Given the description of an element on the screen output the (x, y) to click on. 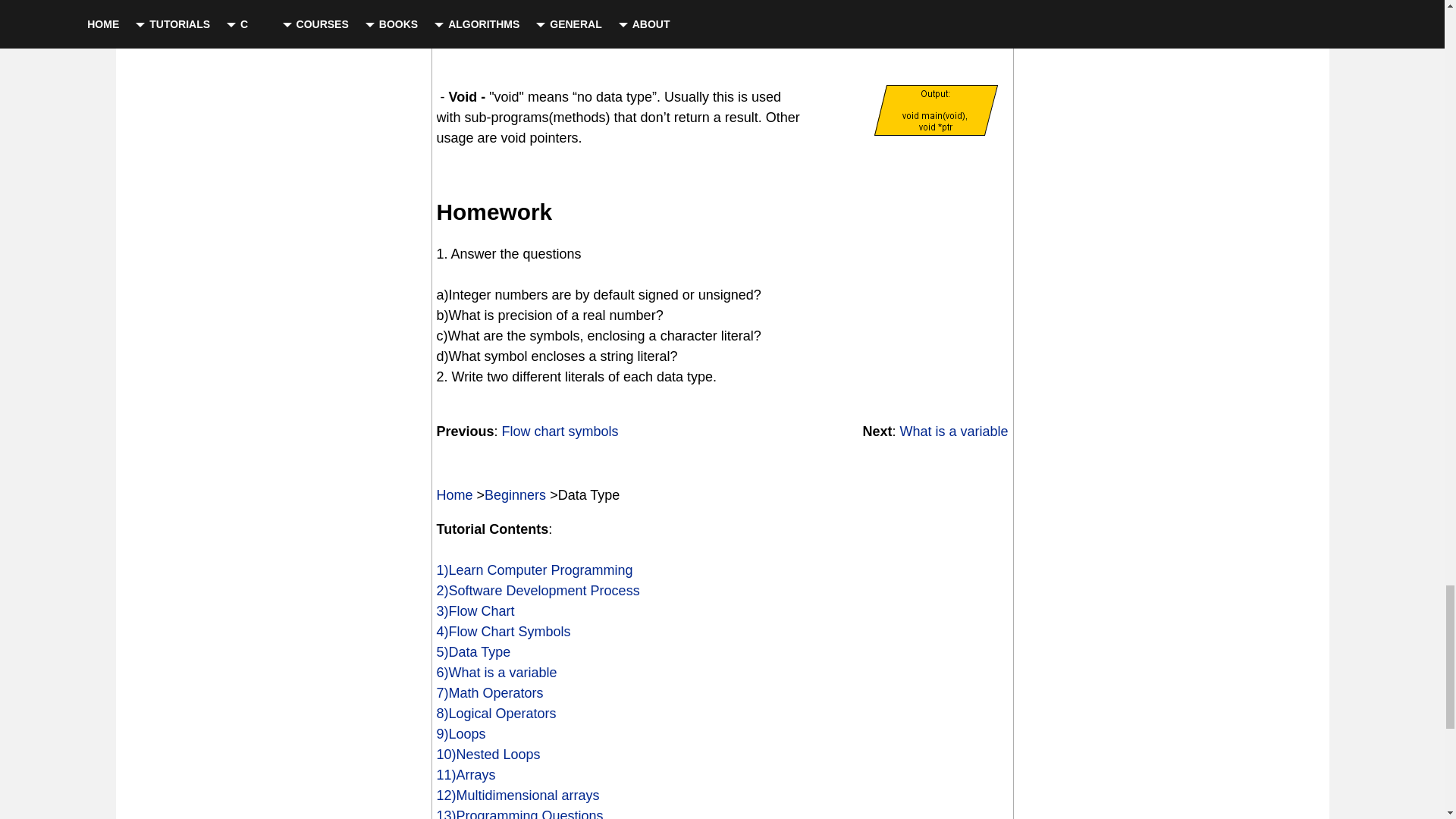
evelopment Process (578, 590)
Flow chart symbols (560, 431)
Example of void data type. (936, 109)
What is a variable (953, 431)
Beginners (515, 494)
Home (454, 494)
